Given the description of an element on the screen output the (x, y) to click on. 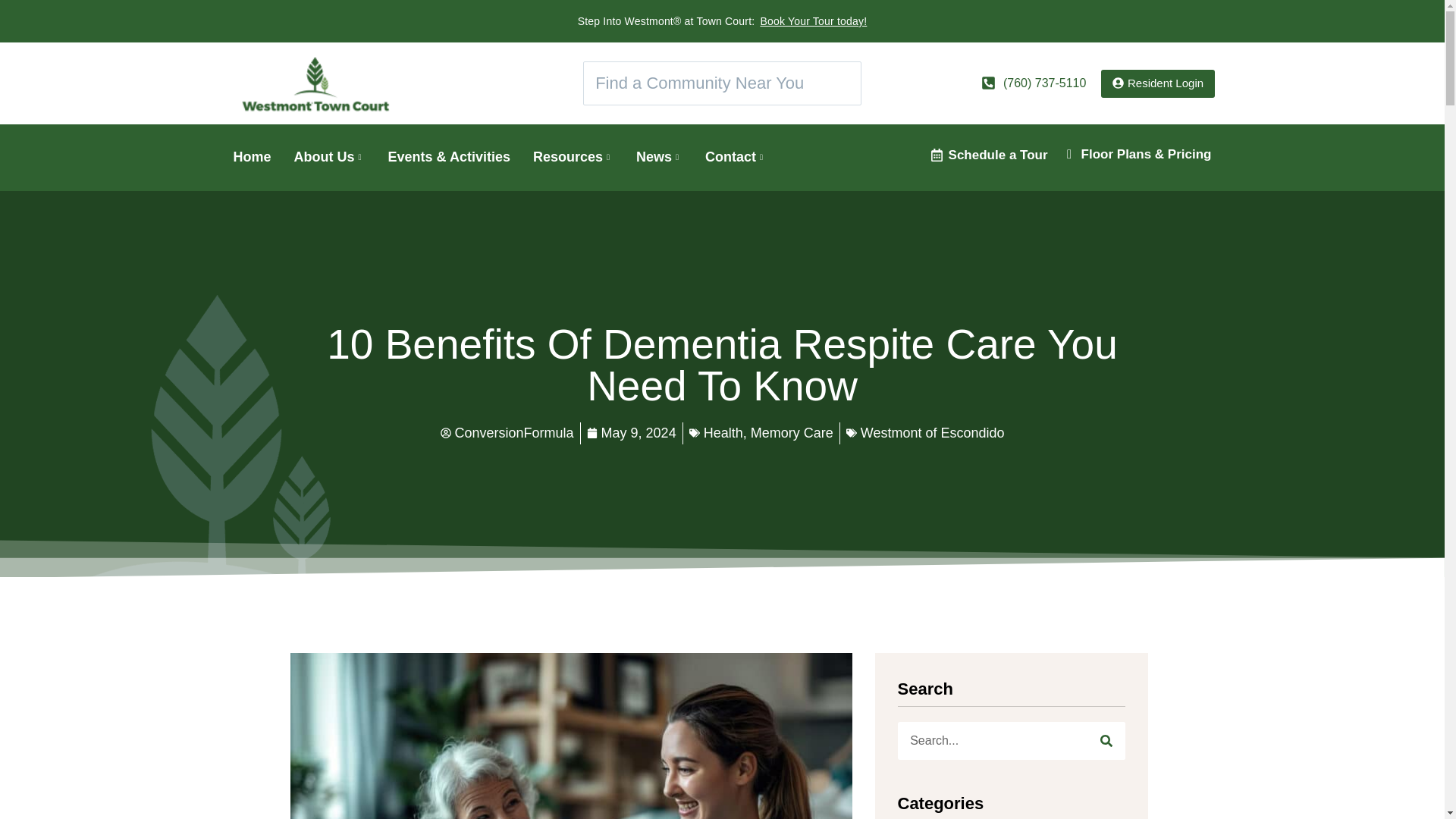
Resident Login (1157, 83)
Schedule a Tour (998, 155)
Resources (584, 156)
Contact (746, 156)
ConversionFormula (507, 433)
About Us (341, 156)
Home (263, 156)
May 9, 2024 (631, 433)
Health (722, 432)
News (670, 156)
